Given the description of an element on the screen output the (x, y) to click on. 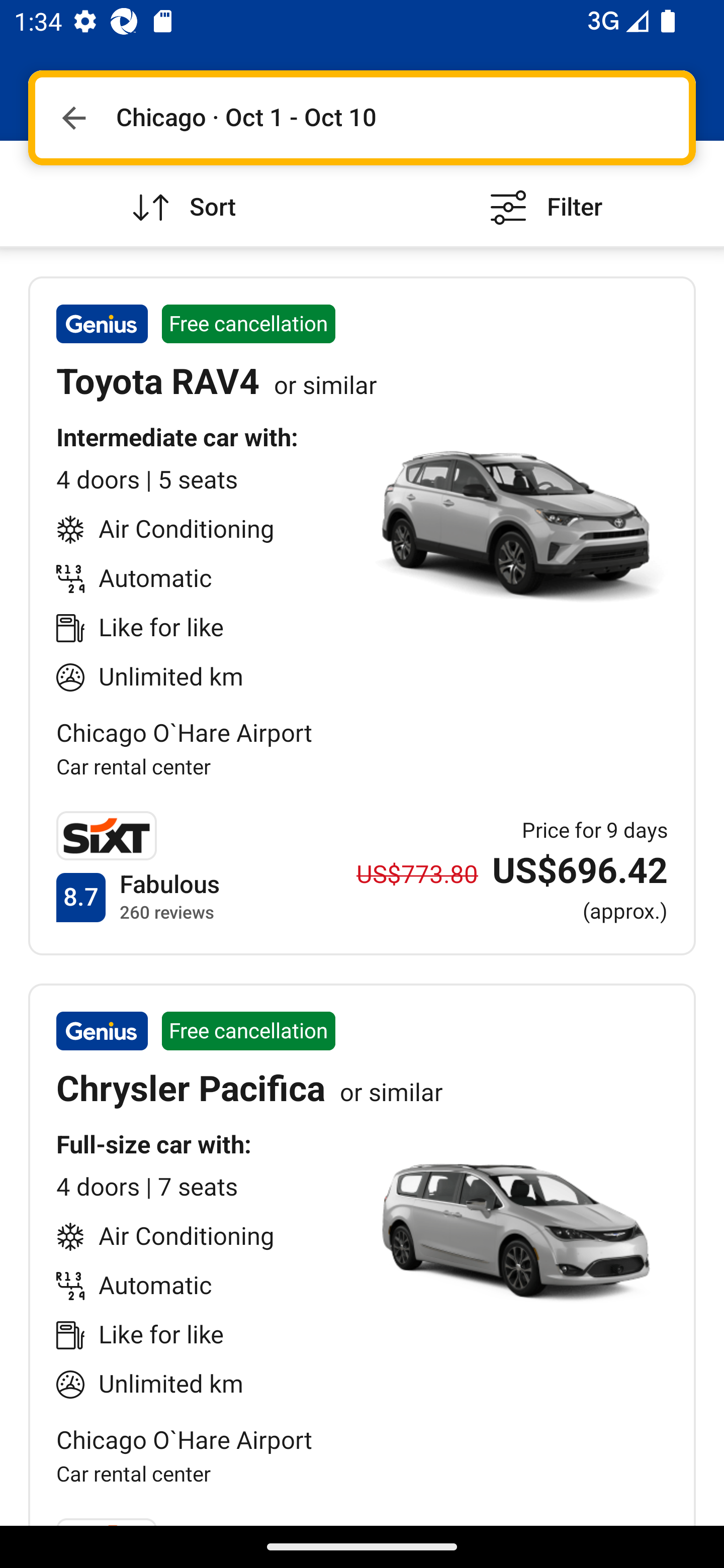
Back to previous screen (73, 117)
Sort (181, 193)
Filter (543, 193)
